Given the description of an element on the screen output the (x, y) to click on. 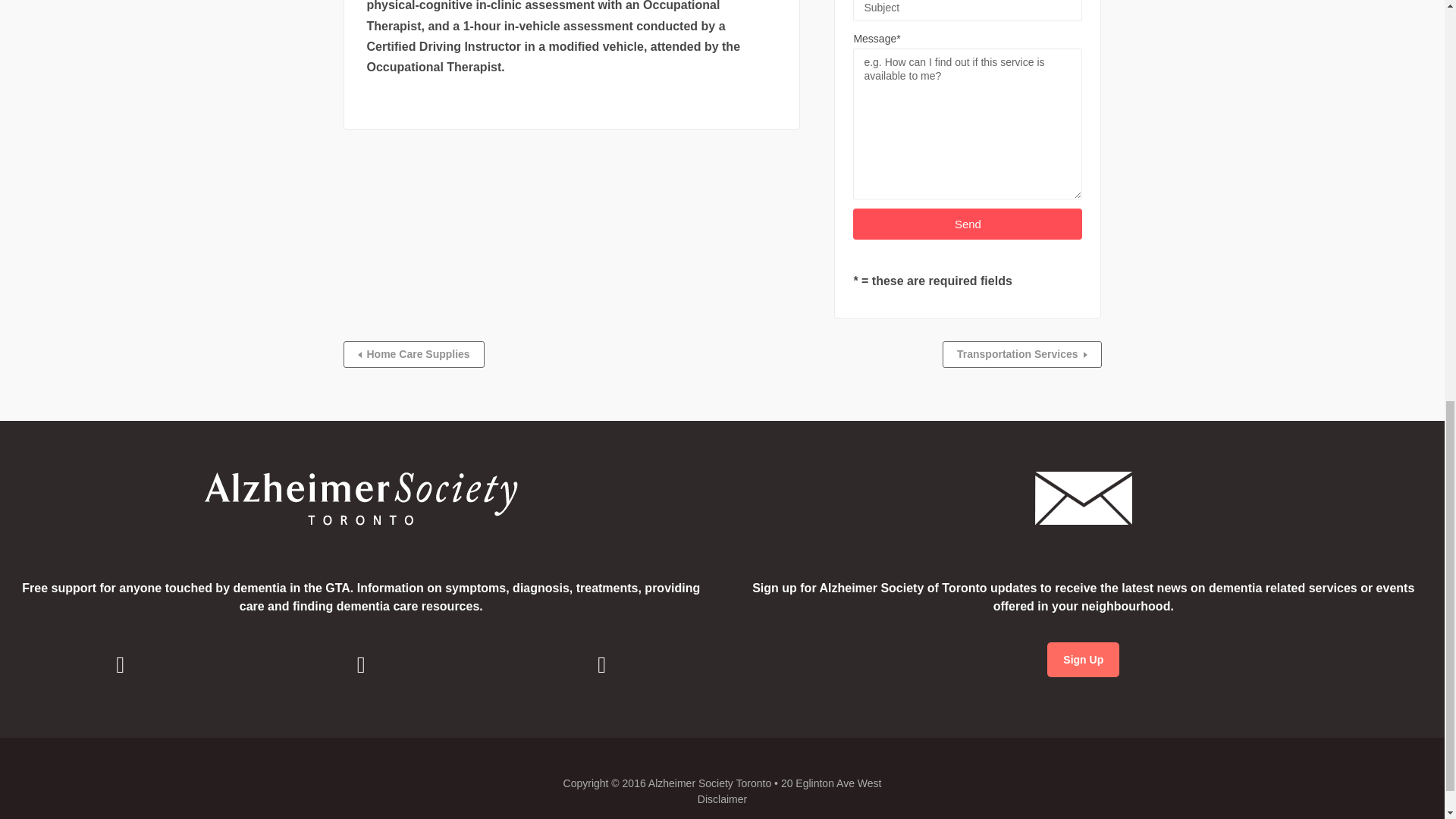
Facebook (120, 664)
AST Email Updates (1082, 659)
Twitter (601, 664)
Sign Up (1082, 659)
Disclaimer (721, 799)
Send (967, 223)
email-signup-white (1083, 497)
Transportation Services (1022, 354)
Send (967, 223)
Instagram (360, 664)
Home Care Supplies (412, 354)
